Given the description of an element on the screen output the (x, y) to click on. 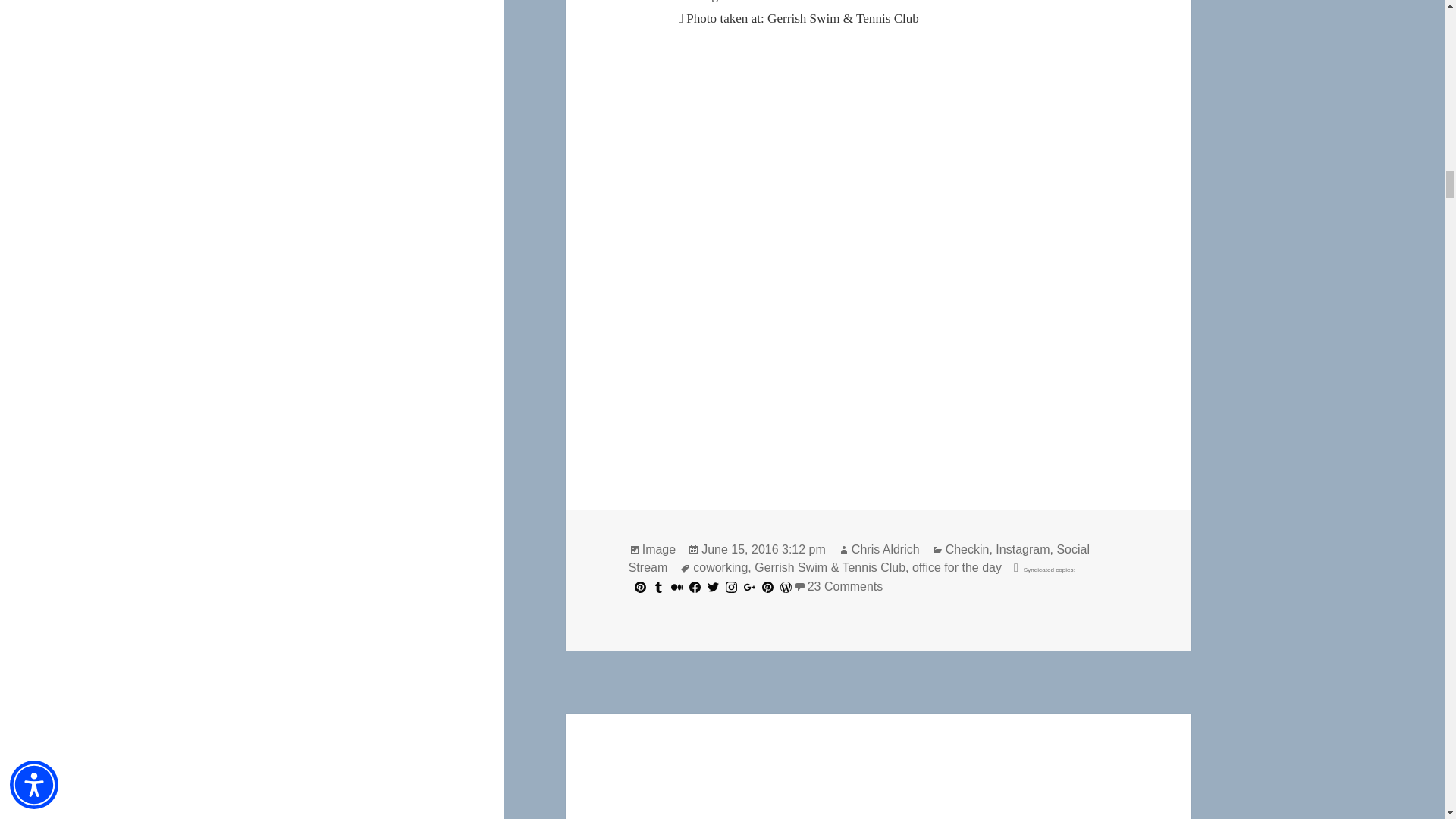
Medium (676, 586)
Tumblr (657, 586)
Pinterest (640, 586)
